Given the description of an element on the screen output the (x, y) to click on. 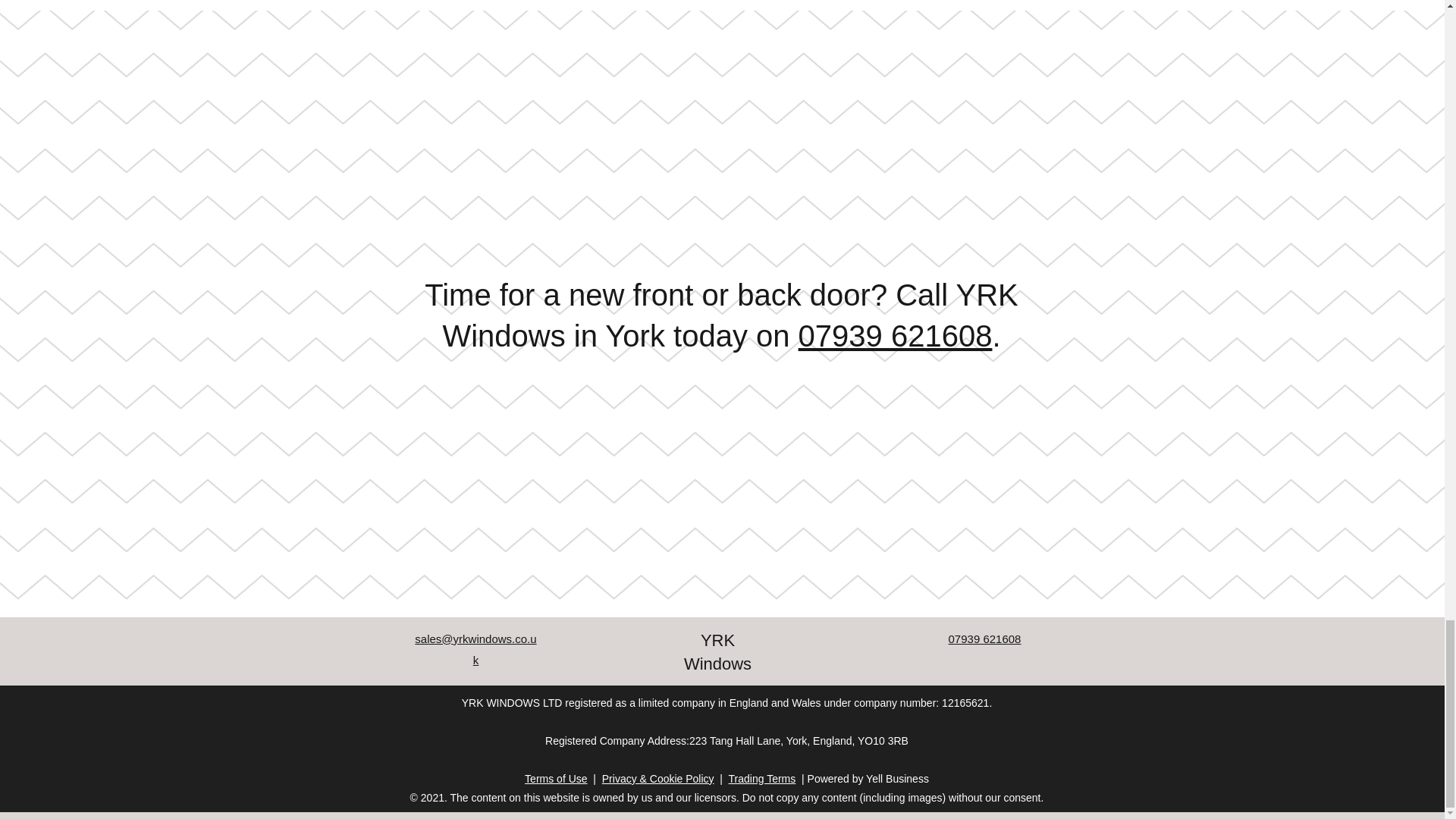
07939 621608 (894, 335)
Trading Terms (762, 778)
Terms of Use (555, 778)
07939 621608 (985, 638)
YRK Windows (717, 651)
